Given the description of an element on the screen output the (x, y) to click on. 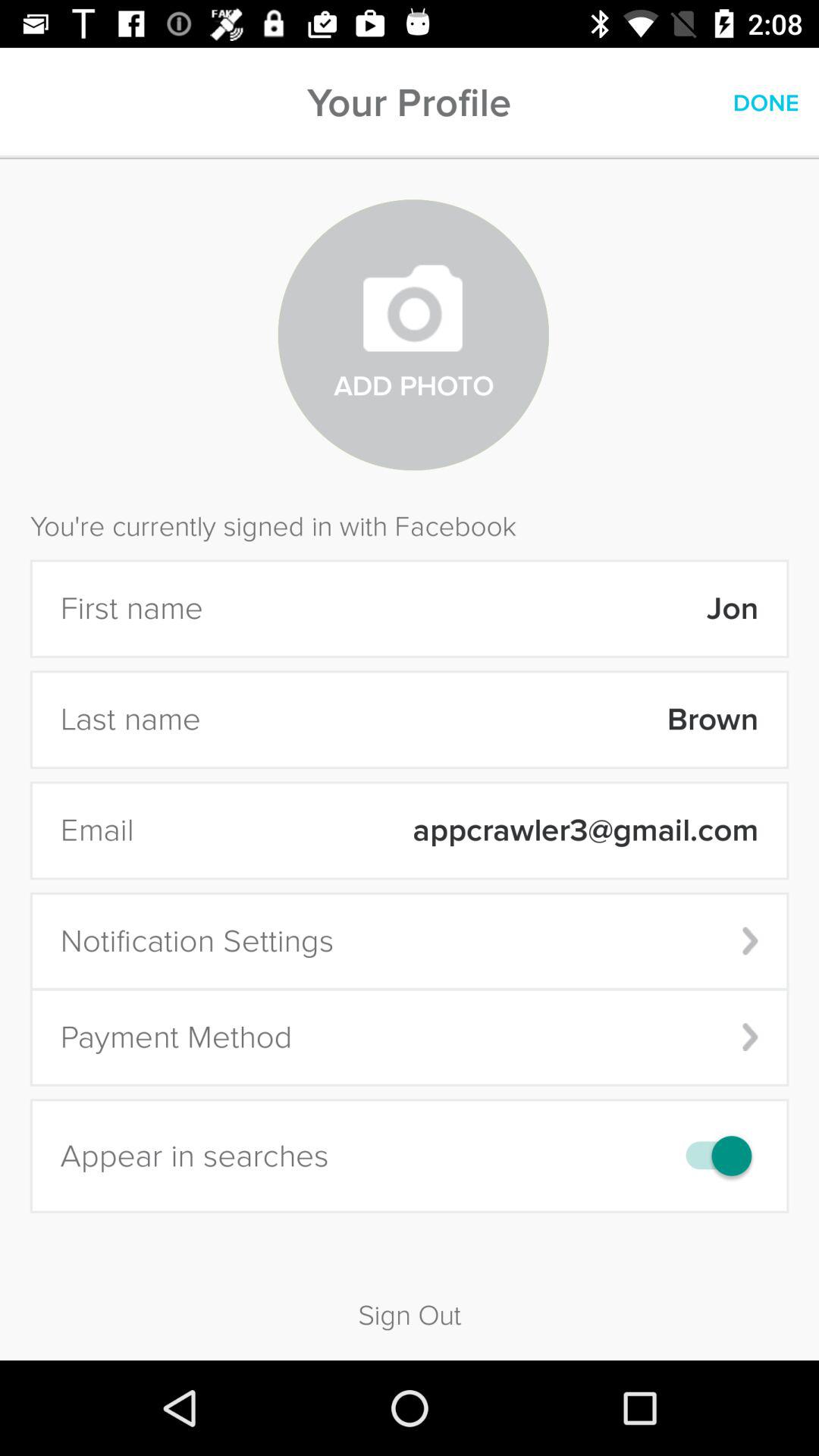
open item next to email item (455, 830)
